Given the description of an element on the screen output the (x, y) to click on. 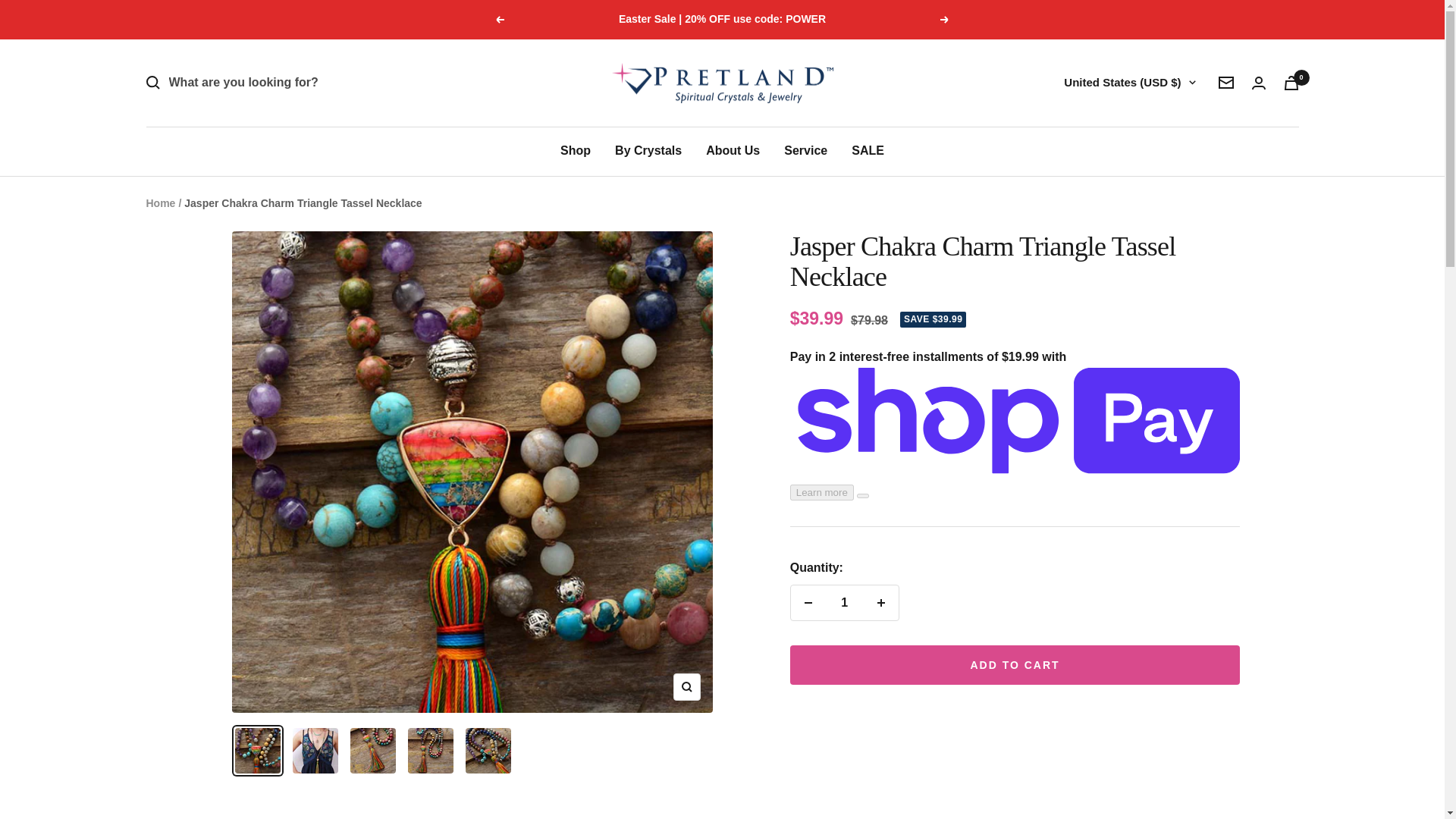
BO (1028, 794)
AG (1028, 320)
AI (1028, 293)
BZ (1028, 689)
AZ (1028, 504)
1 (844, 602)
AL (1028, 189)
AO (1028, 268)
AX (1028, 162)
BH (1028, 557)
BD (1028, 583)
AM (1028, 373)
Previous (499, 19)
AW (1028, 399)
BA (1028, 814)
